Given the description of an element on the screen output the (x, y) to click on. 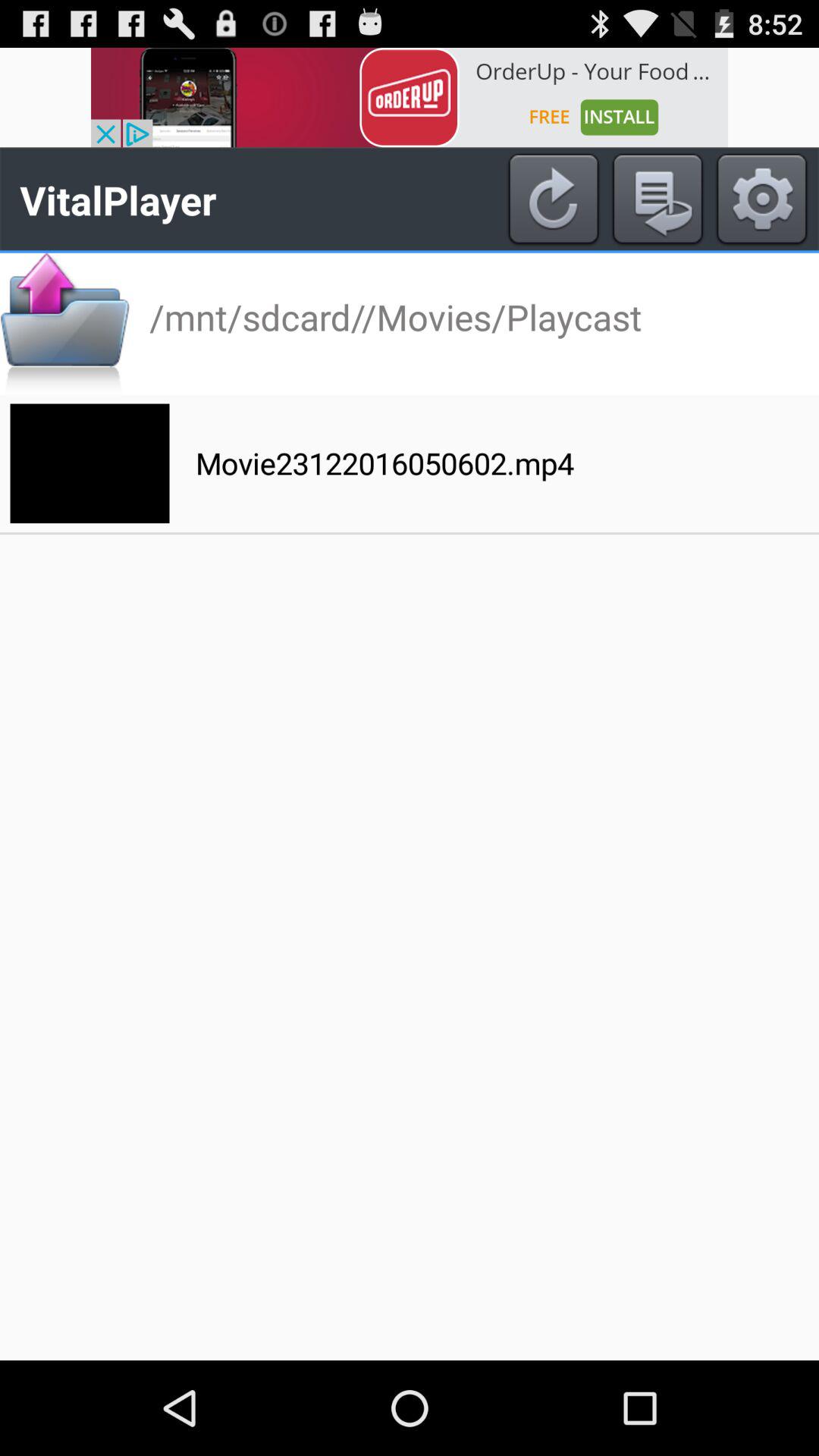
open files (64, 323)
